Given the description of an element on the screen output the (x, y) to click on. 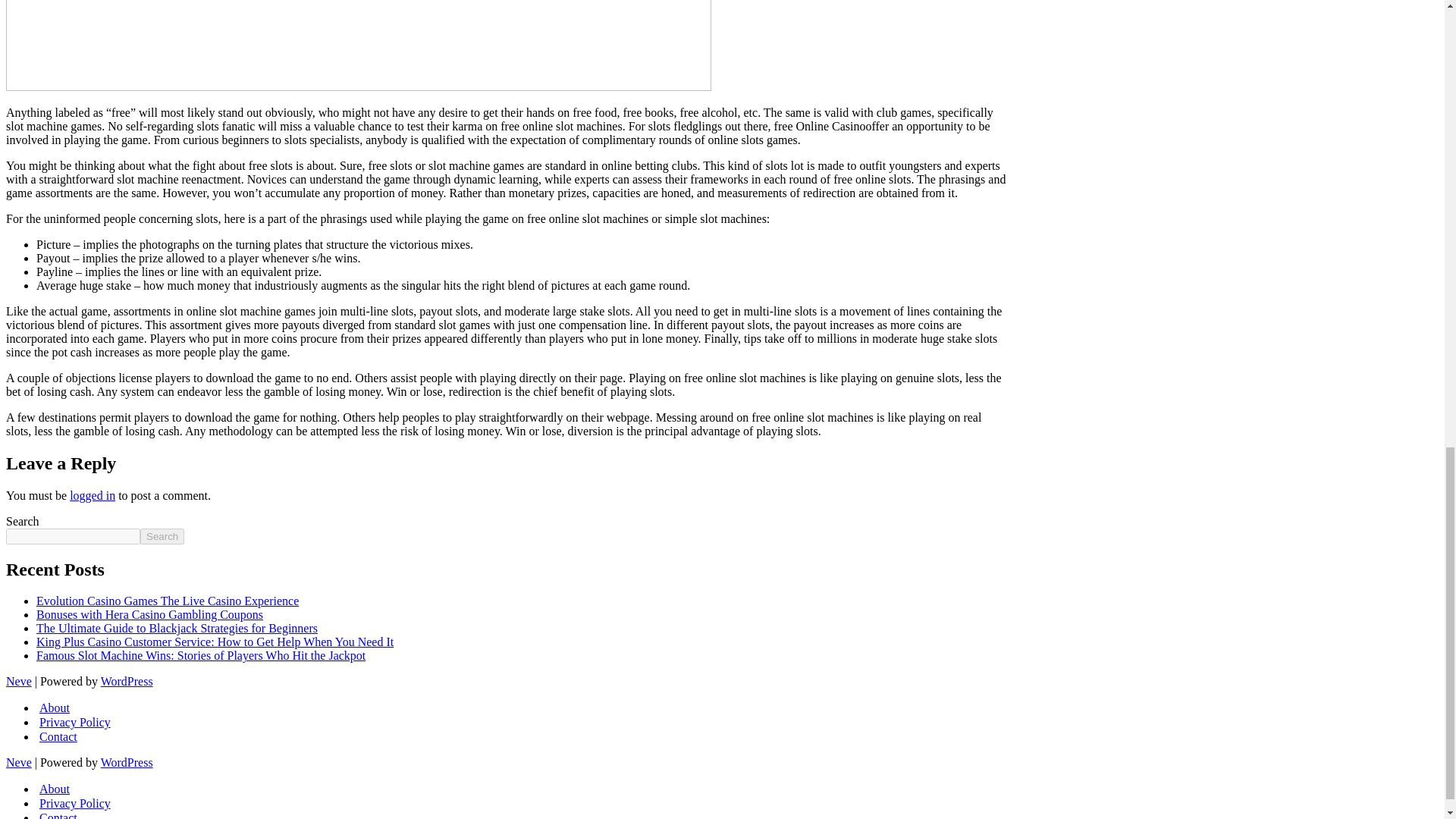
Evolution Casino Games The Live Casino Experience (167, 600)
Bonuses with Hera Casino Gambling Coupons (149, 614)
The Ultimate Guide to Blackjack Strategies for Beginners (176, 627)
logged in (92, 495)
Search (161, 536)
Neve (18, 680)
